Given the description of an element on the screen output the (x, y) to click on. 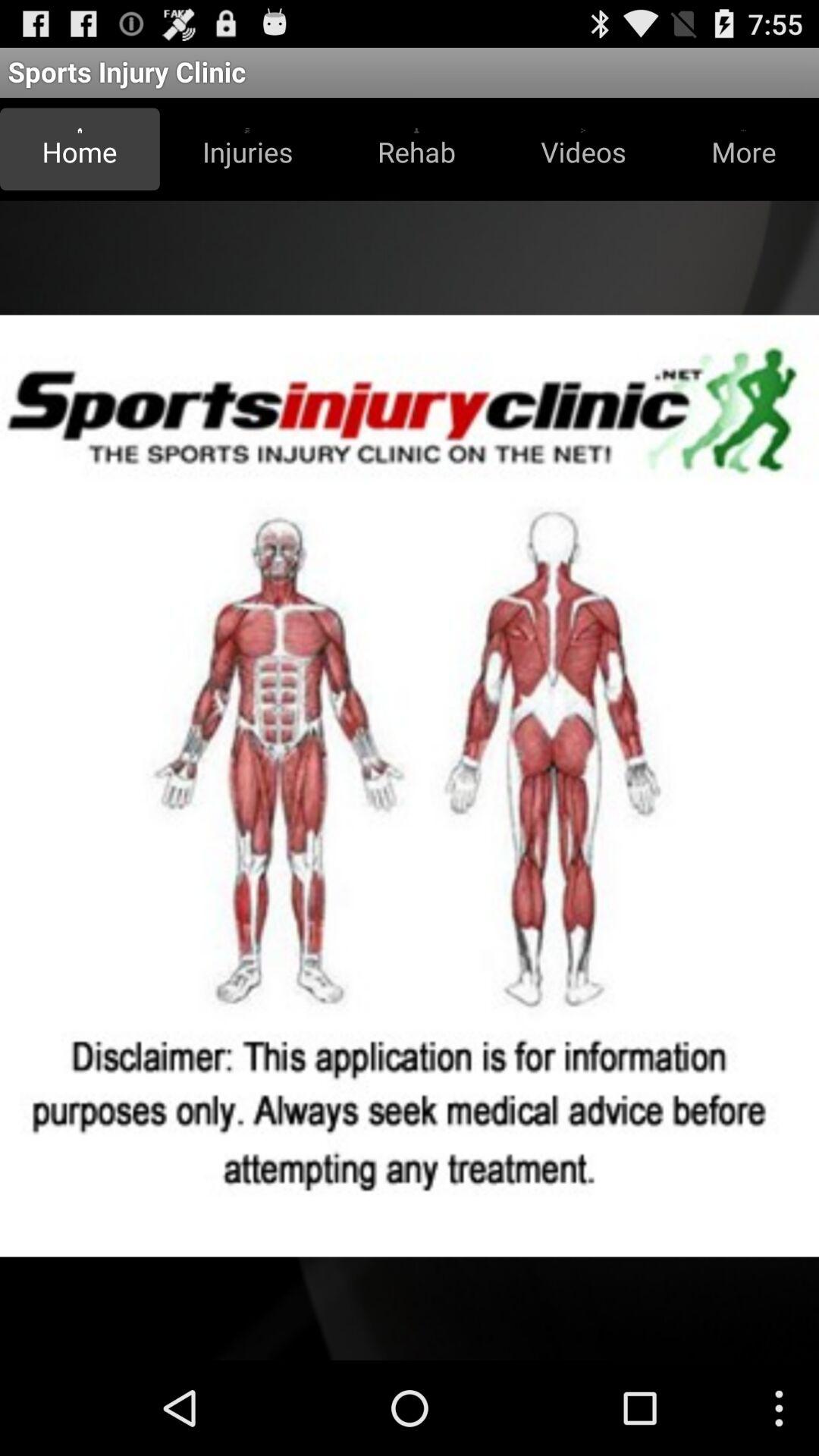
turn off the item next to the more item (583, 149)
